Given the description of an element on the screen output the (x, y) to click on. 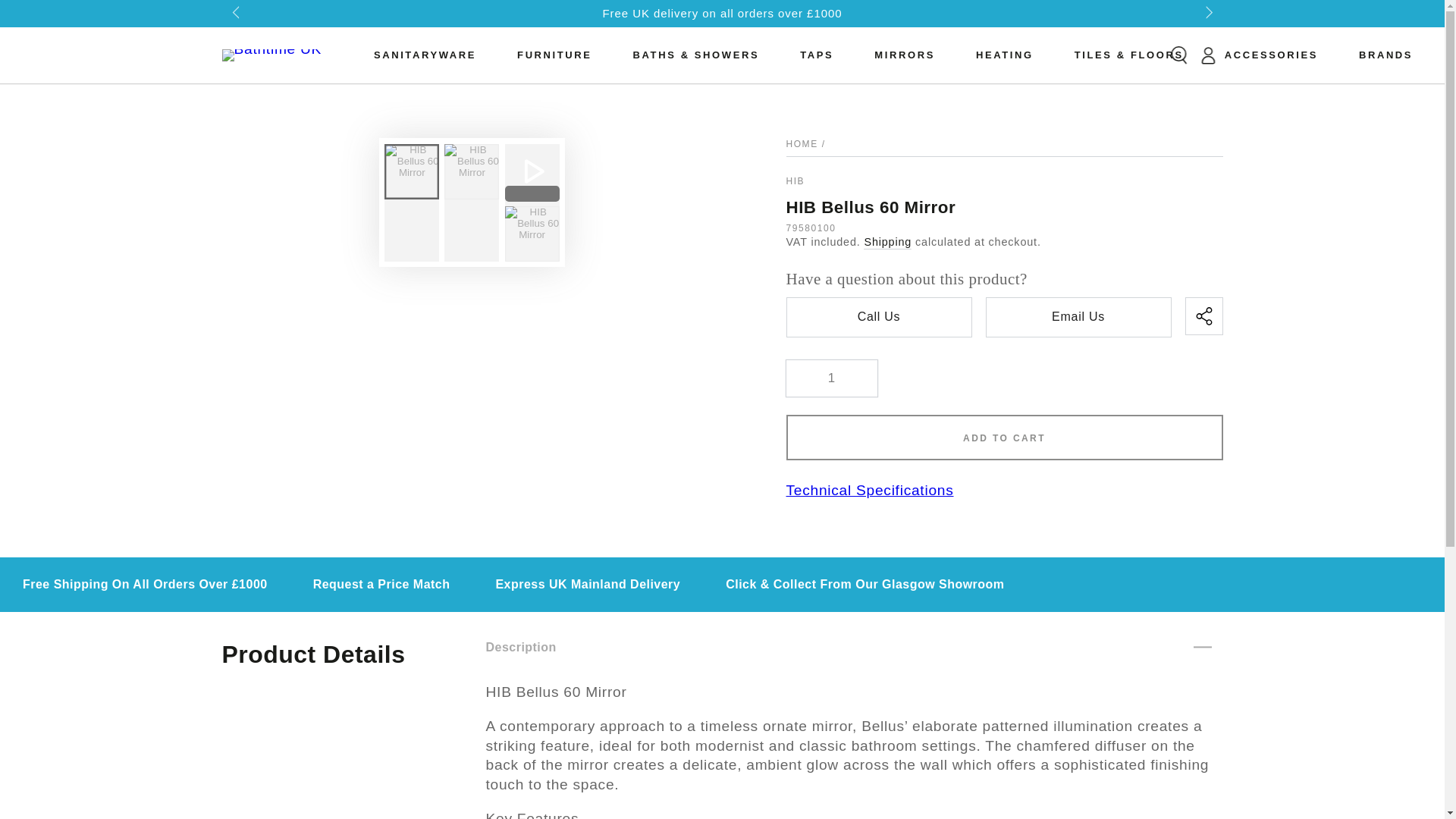
SKIP TO CONTENT (81, 18)
Back to the frontpage (801, 143)
1 (831, 377)
HIB (795, 181)
